Given the description of an element on the screen output the (x, y) to click on. 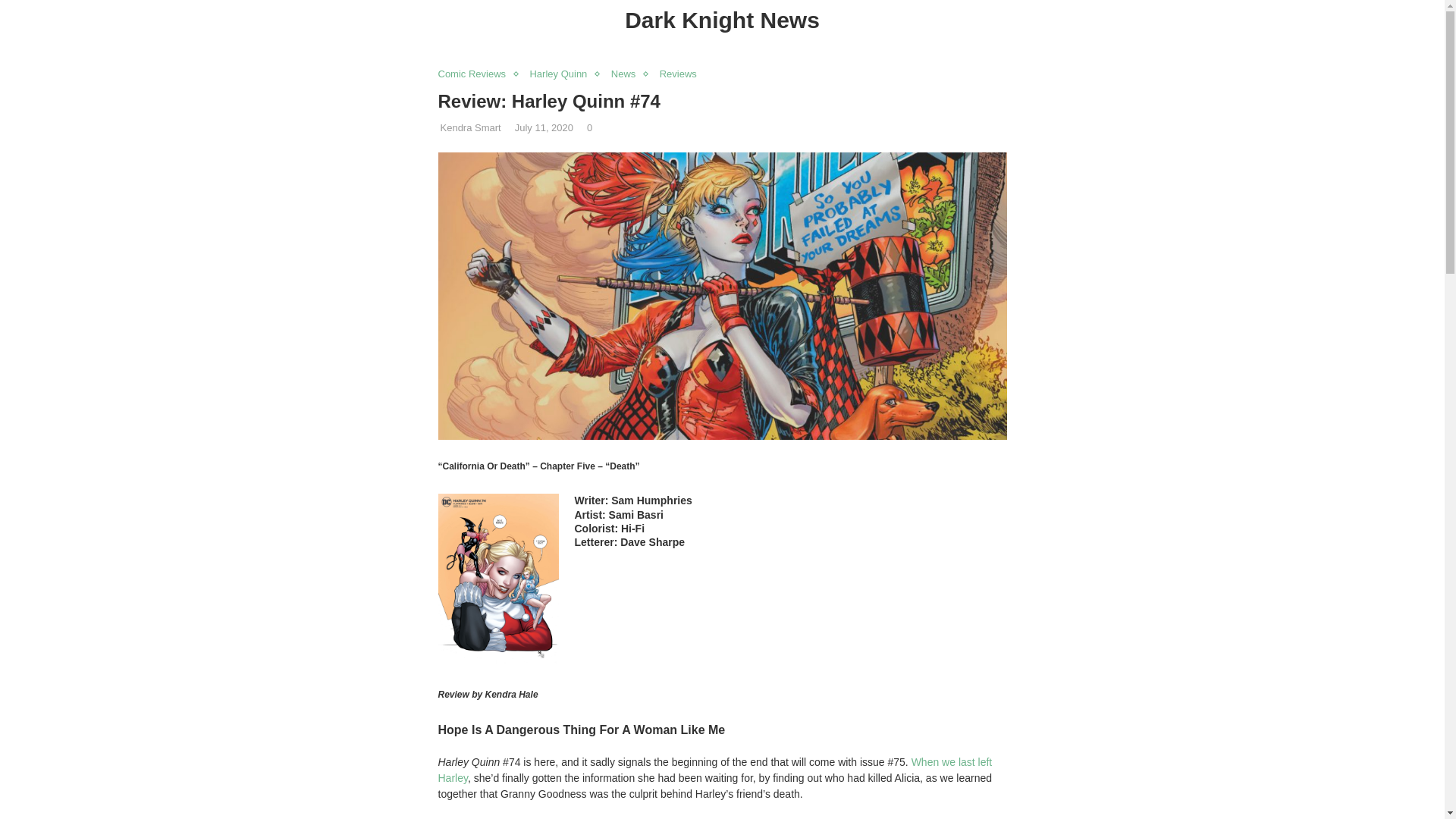
Reviews (681, 73)
News (627, 73)
Comic Reviews (475, 73)
July 11, 2020 (544, 127)
Harley Quinn (561, 73)
When we last left Harley (715, 769)
